Given the description of an element on the screen output the (x, y) to click on. 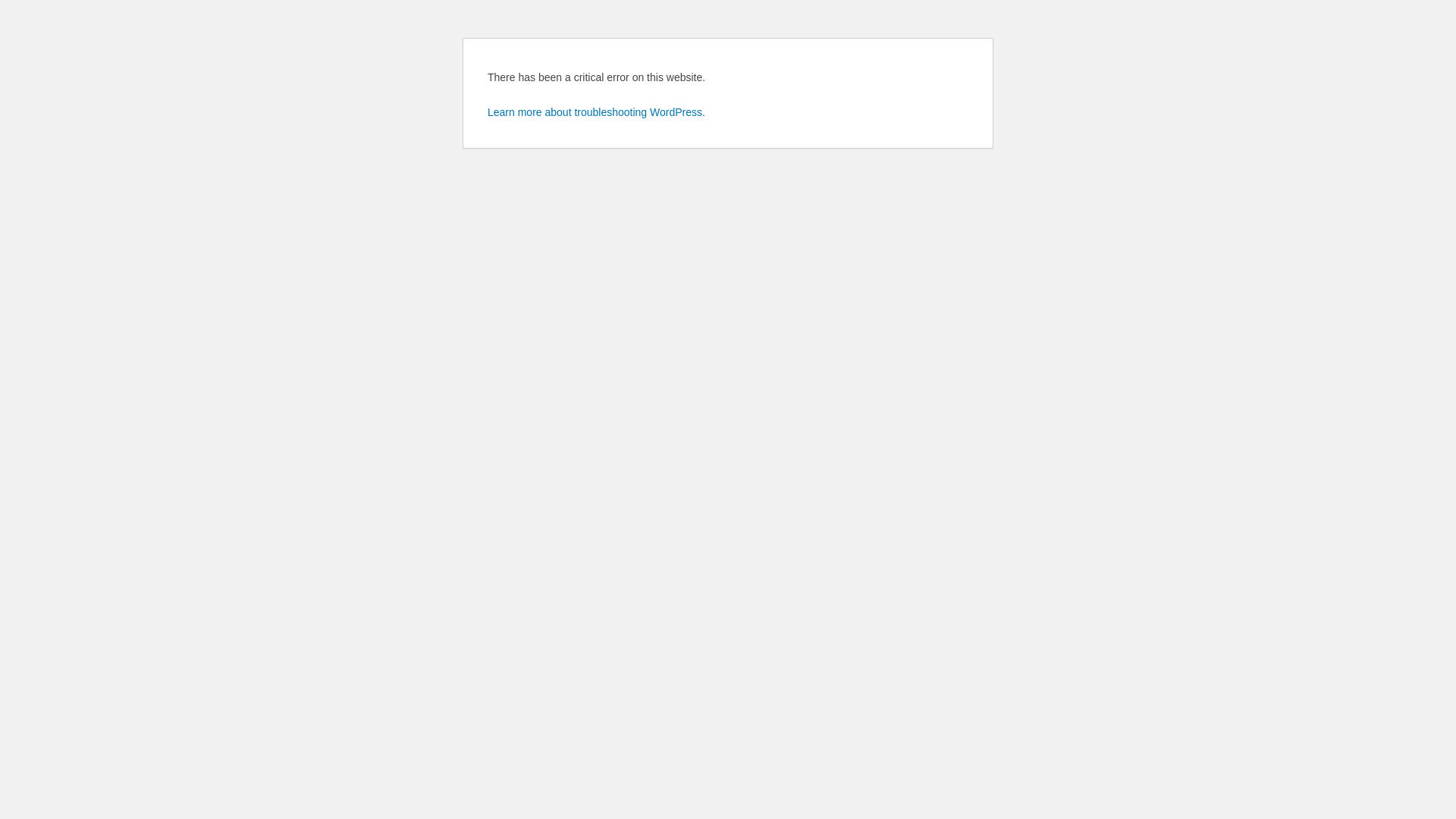
Learn more about troubleshooting WordPress. Element type: text (596, 112)
